Given the description of an element on the screen output the (x, y) to click on. 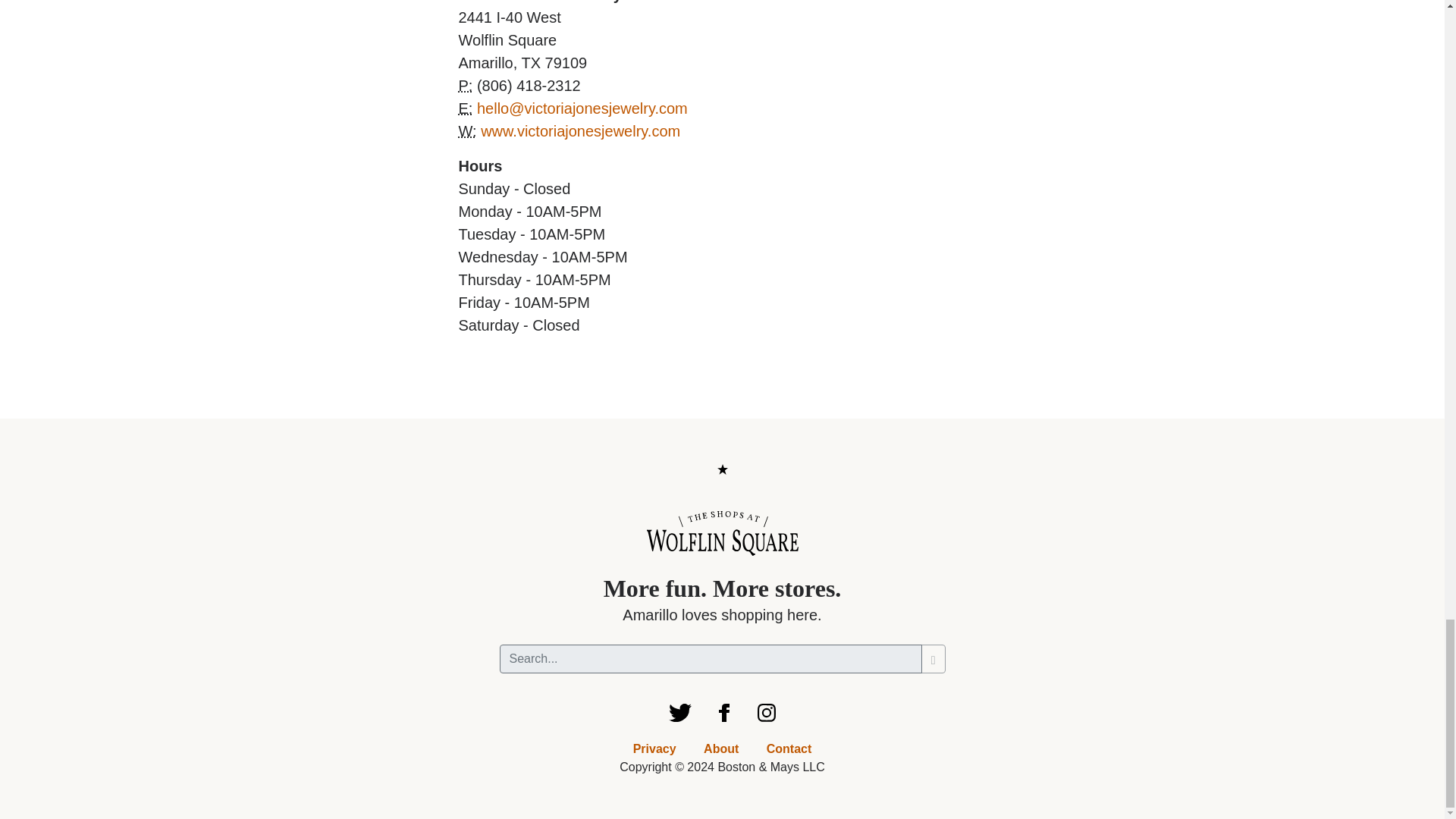
Privacy (655, 748)
Website (467, 130)
About (720, 748)
www.victoriajonesjewelry.com (579, 130)
Contact (789, 748)
